Given the description of an element on the screen output the (x, y) to click on. 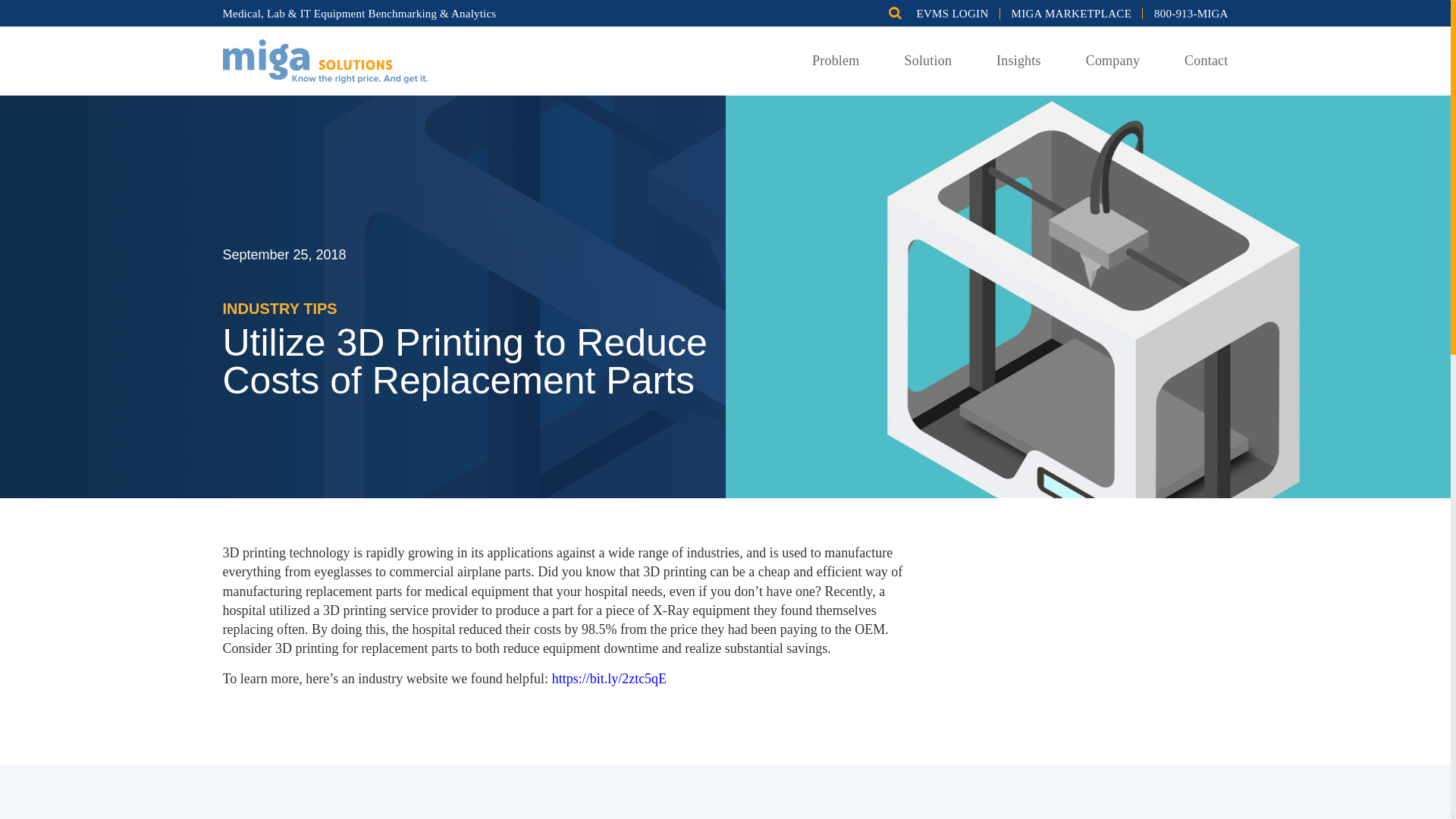
EVMS LOGIN (951, 13)
MIGA MARKETPLACE (1071, 13)
800-913-MIGA (1190, 13)
Miga Solutions (325, 59)
